Given the description of an element on the screen output the (x, y) to click on. 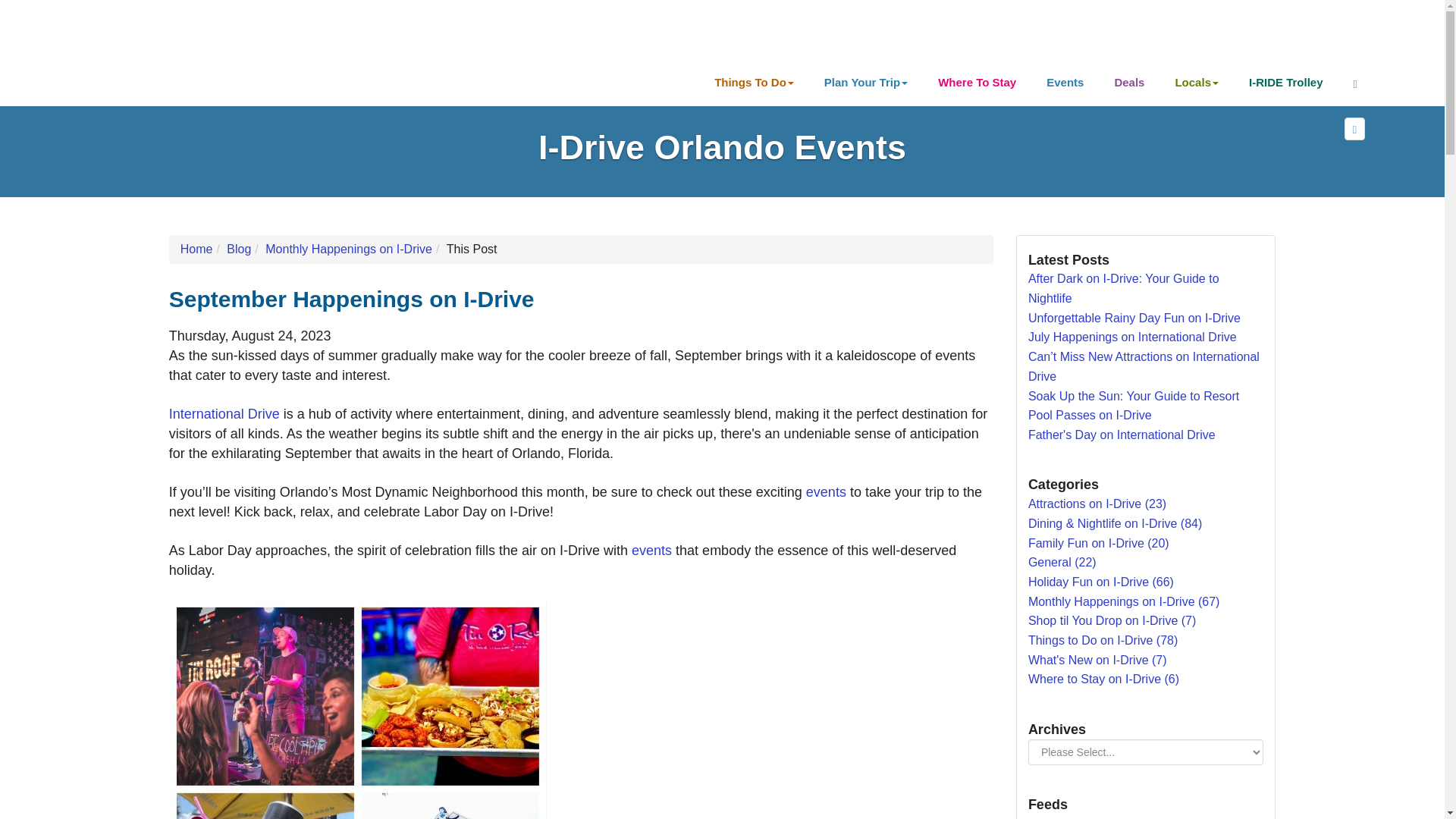
Locals (1195, 82)
Events (1064, 82)
Where To Stay (976, 82)
Things To Do (753, 82)
Deals (1128, 82)
Plan Your Trip (866, 82)
